Given the description of an element on the screen output the (x, y) to click on. 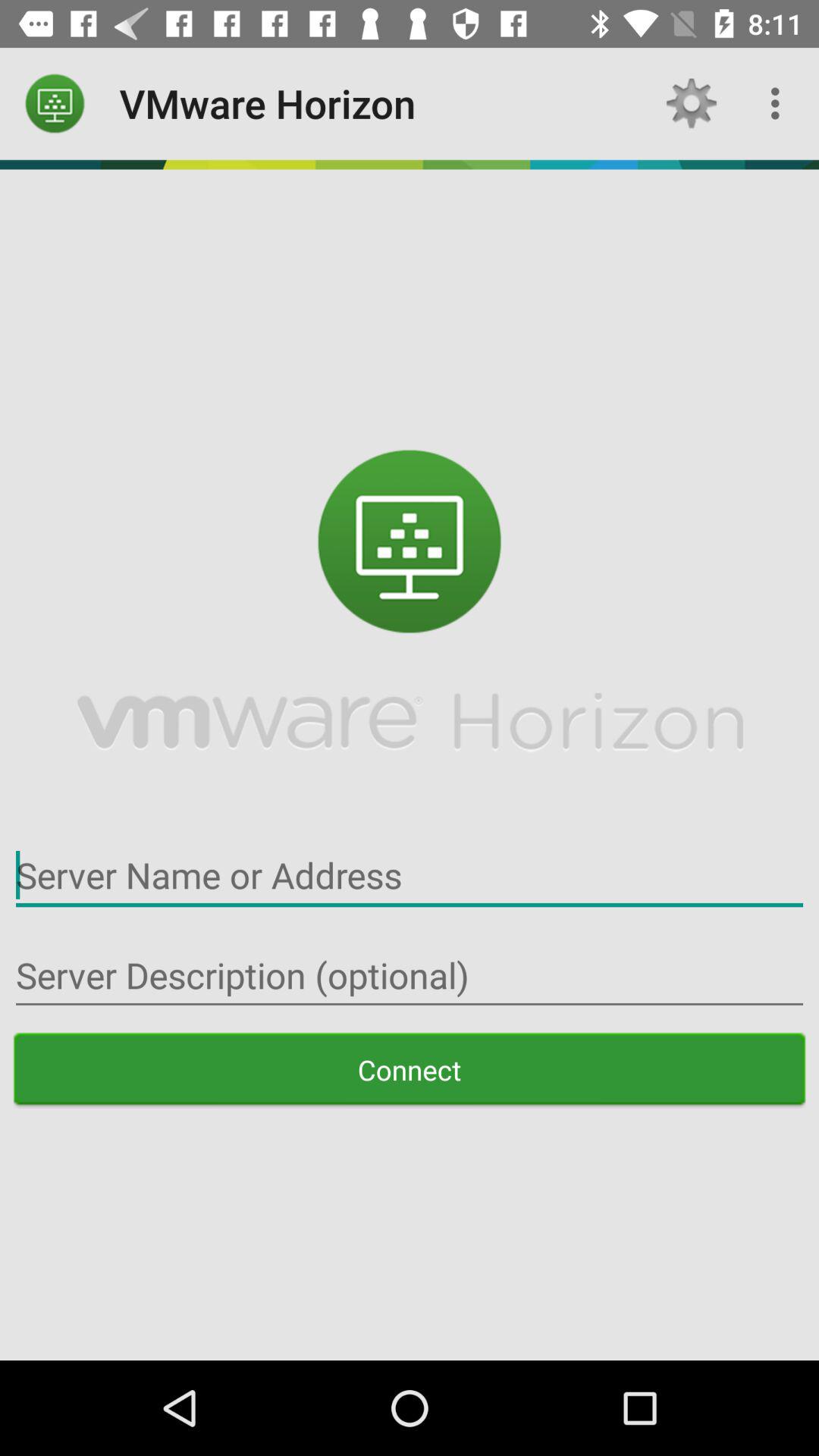
press the icon next to the vmware horizon (691, 103)
